Given the description of an element on the screen output the (x, y) to click on. 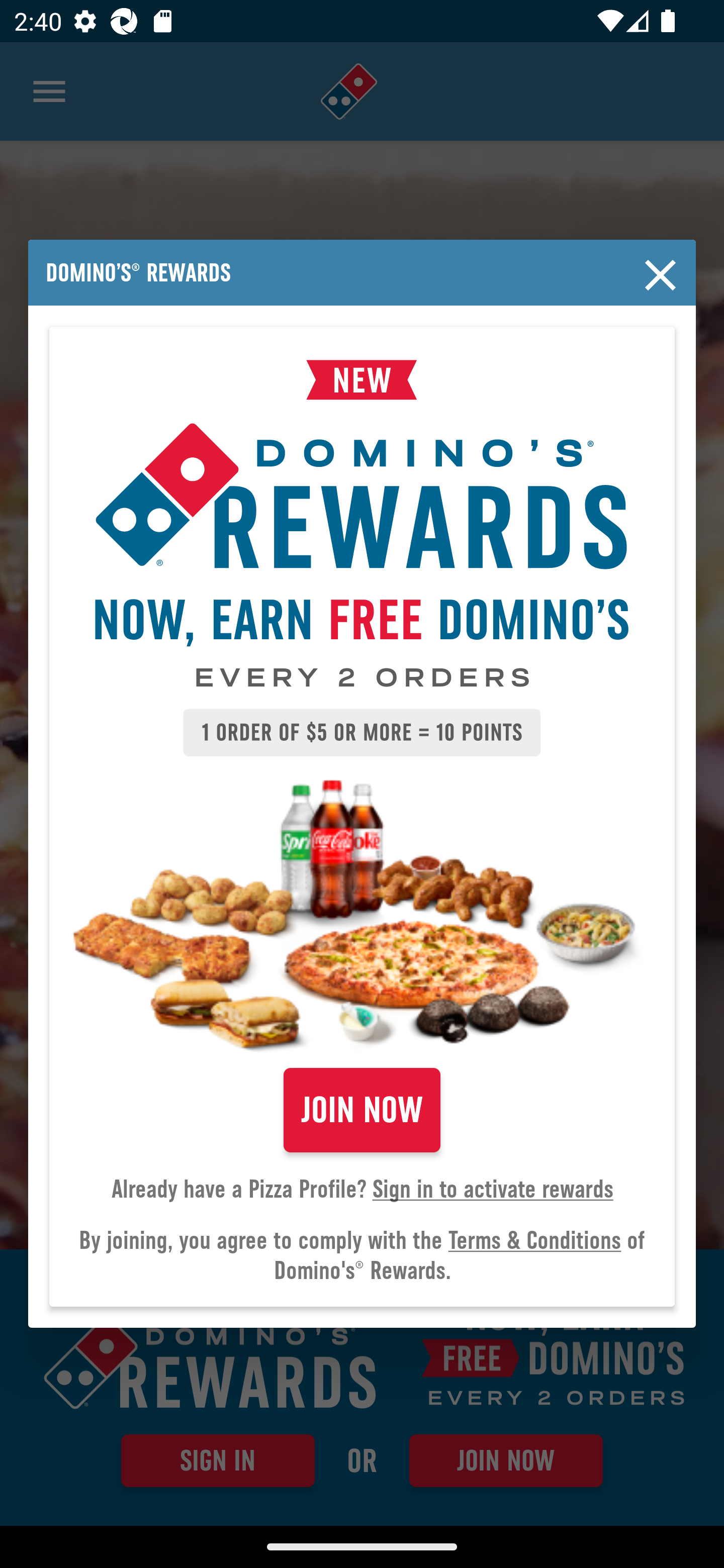
Close (660, 275)
JOIN NOW (361, 1109)
